Given the description of an element on the screen output the (x, y) to click on. 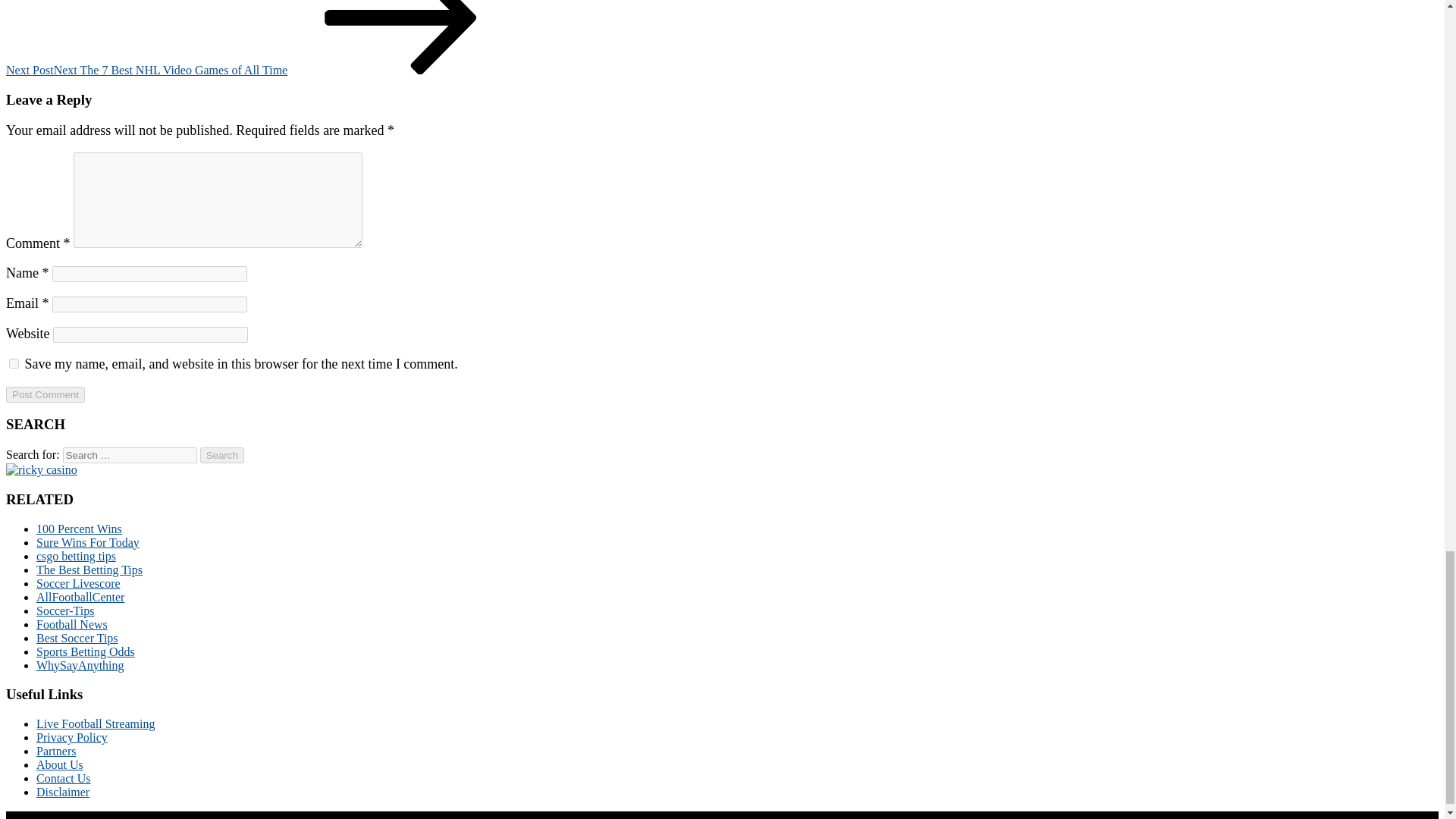
Sports Betting Odds (85, 651)
csgo betting tips (76, 555)
Post Comment (44, 394)
100 Percent Wins (79, 528)
Best Soccer Tips (76, 637)
AllFootballCenter (79, 596)
Search (222, 455)
Next PostNext The 7 Best NHL Video Games of All Time (260, 69)
Post Comment (44, 394)
Soccer Livescore (78, 583)
